Given the description of an element on the screen output the (x, y) to click on. 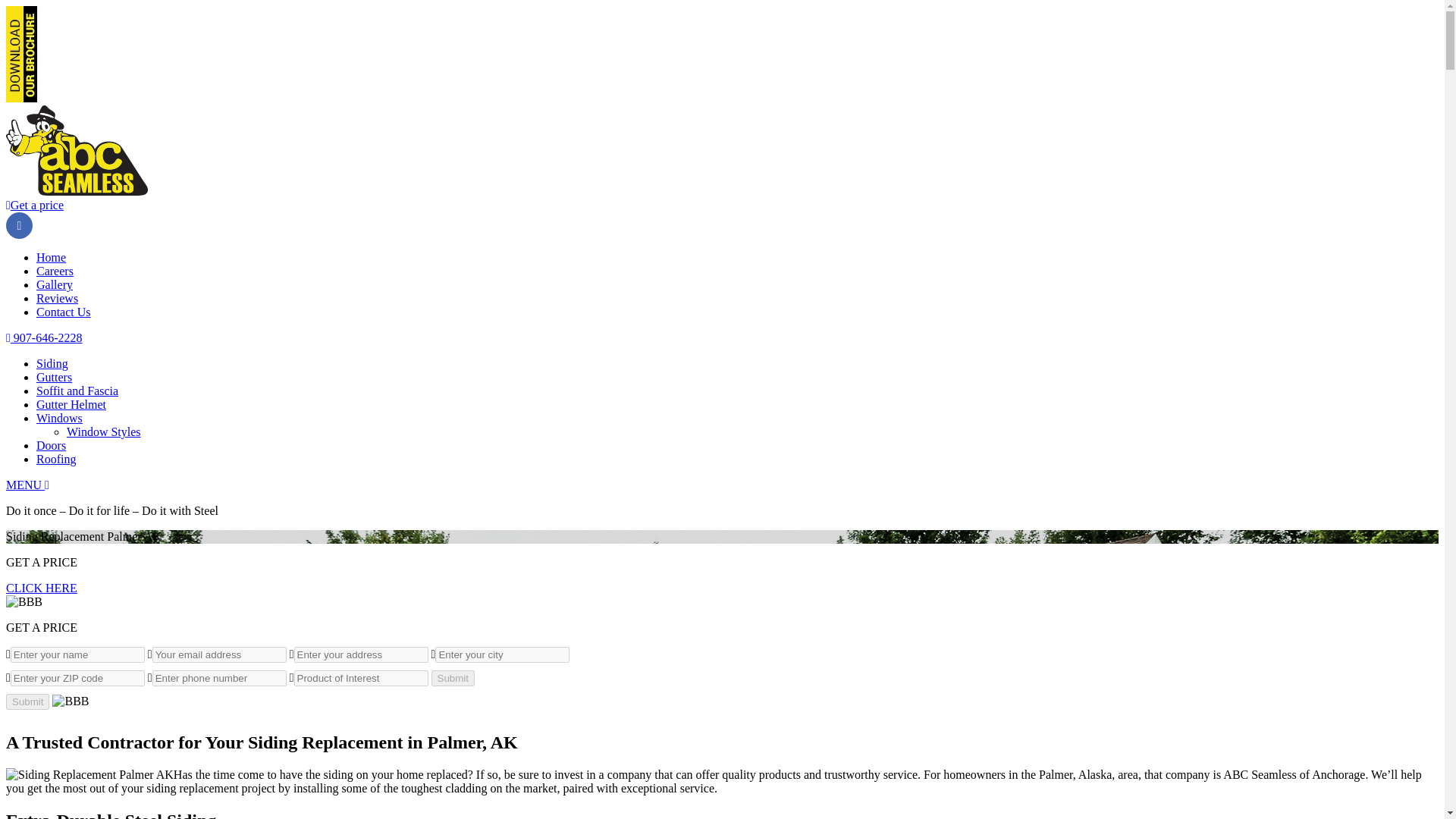
MENU (27, 484)
Get a price (34, 205)
Soffit and Fascia (76, 390)
CLICK HERE (41, 587)
Gutter Helmet (71, 404)
Window Styles (103, 431)
Home (50, 256)
Careers (55, 270)
Contact Us (63, 311)
Roofing (55, 459)
Submit (27, 701)
Reviews (57, 297)
907-646-2228 (43, 337)
Siding Replacement Palmer AK (89, 775)
Submit (27, 701)
